Given the description of an element on the screen output the (x, y) to click on. 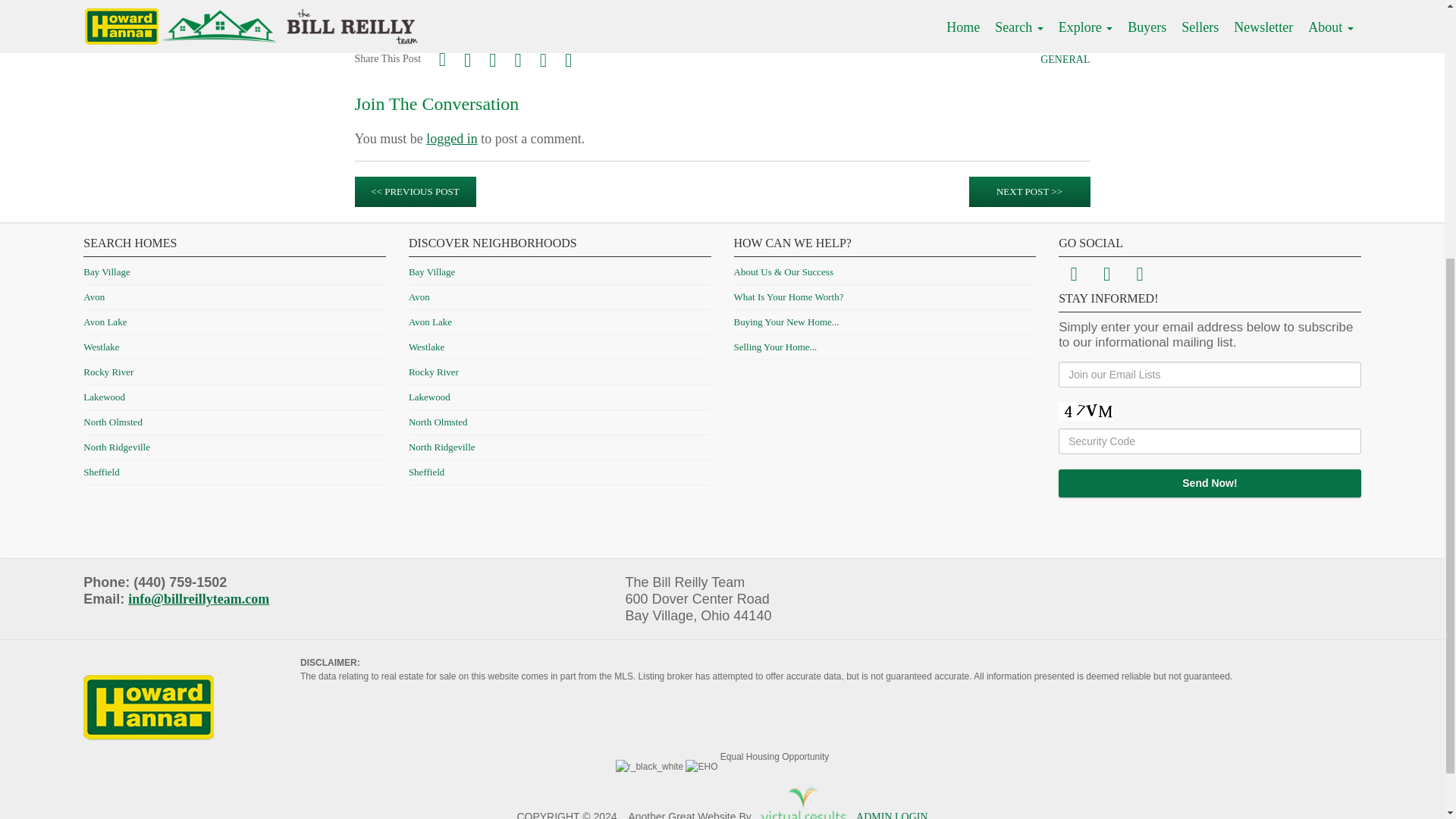
Send Now! (1209, 483)
North Olmsted (112, 421)
North Ridgeville (115, 446)
Bay Village (105, 271)
Avon Lake (104, 321)
Westlake (100, 346)
logged in (451, 138)
Avon (93, 296)
Sheffield (100, 471)
Lakewood (103, 396)
